Given the description of an element on the screen output the (x, y) to click on. 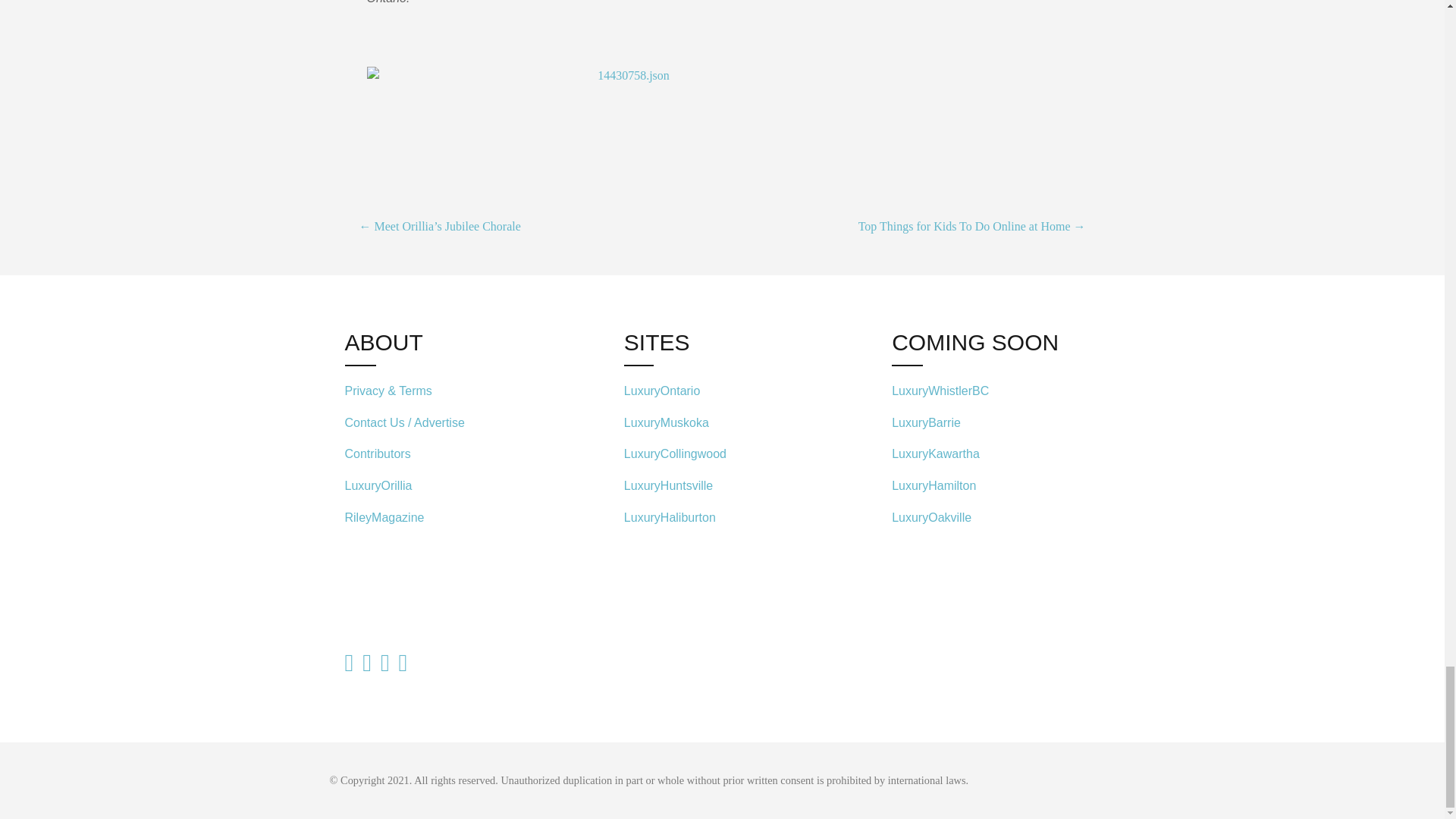
RileyMagazine (383, 517)
Contributors (376, 453)
LuxuryOrillia (377, 485)
